Given the description of an element on the screen output the (x, y) to click on. 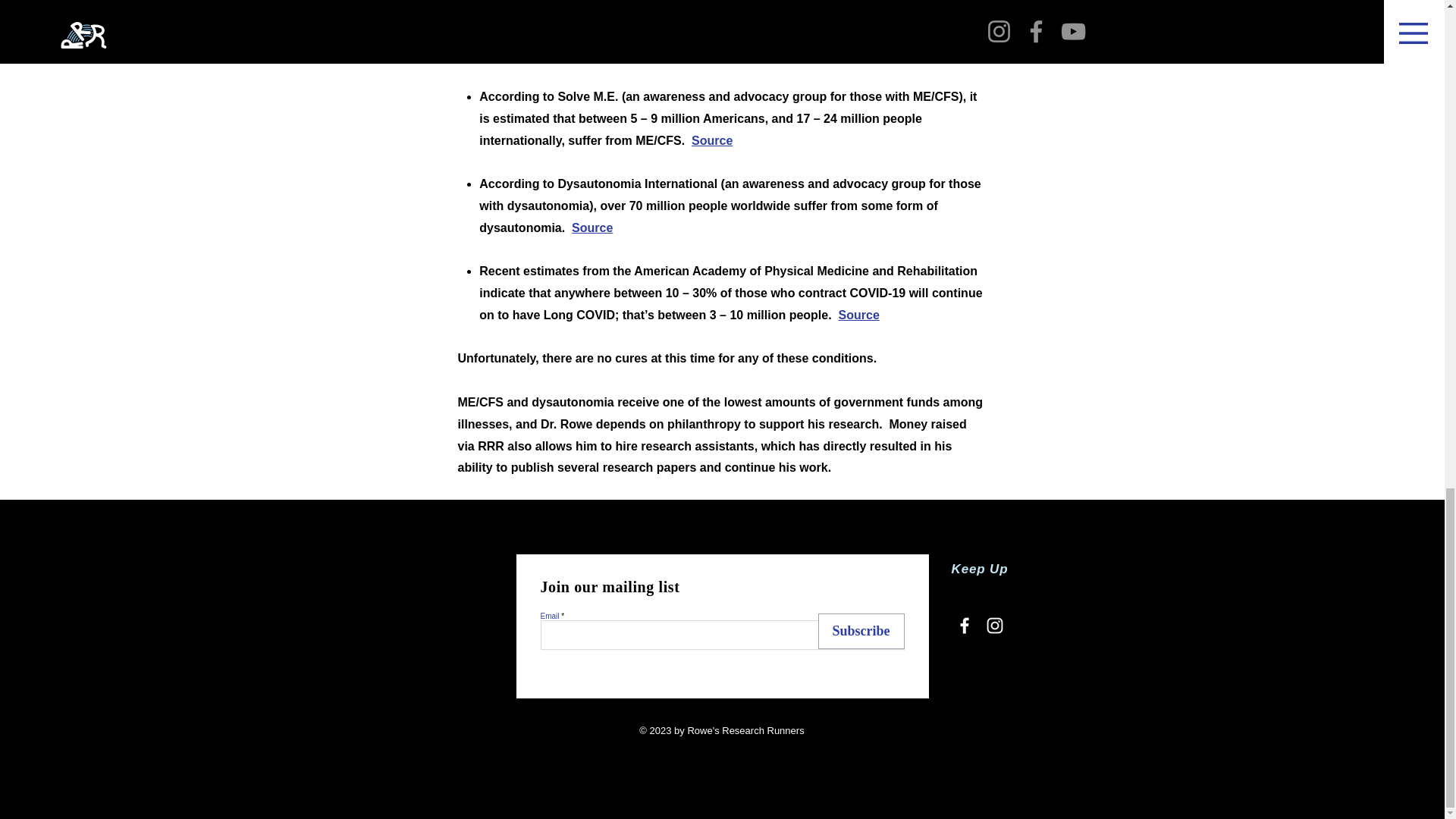
Source (711, 140)
Source (592, 227)
Source (858, 314)
Subscribe (860, 631)
